Given the description of an element on the screen output the (x, y) to click on. 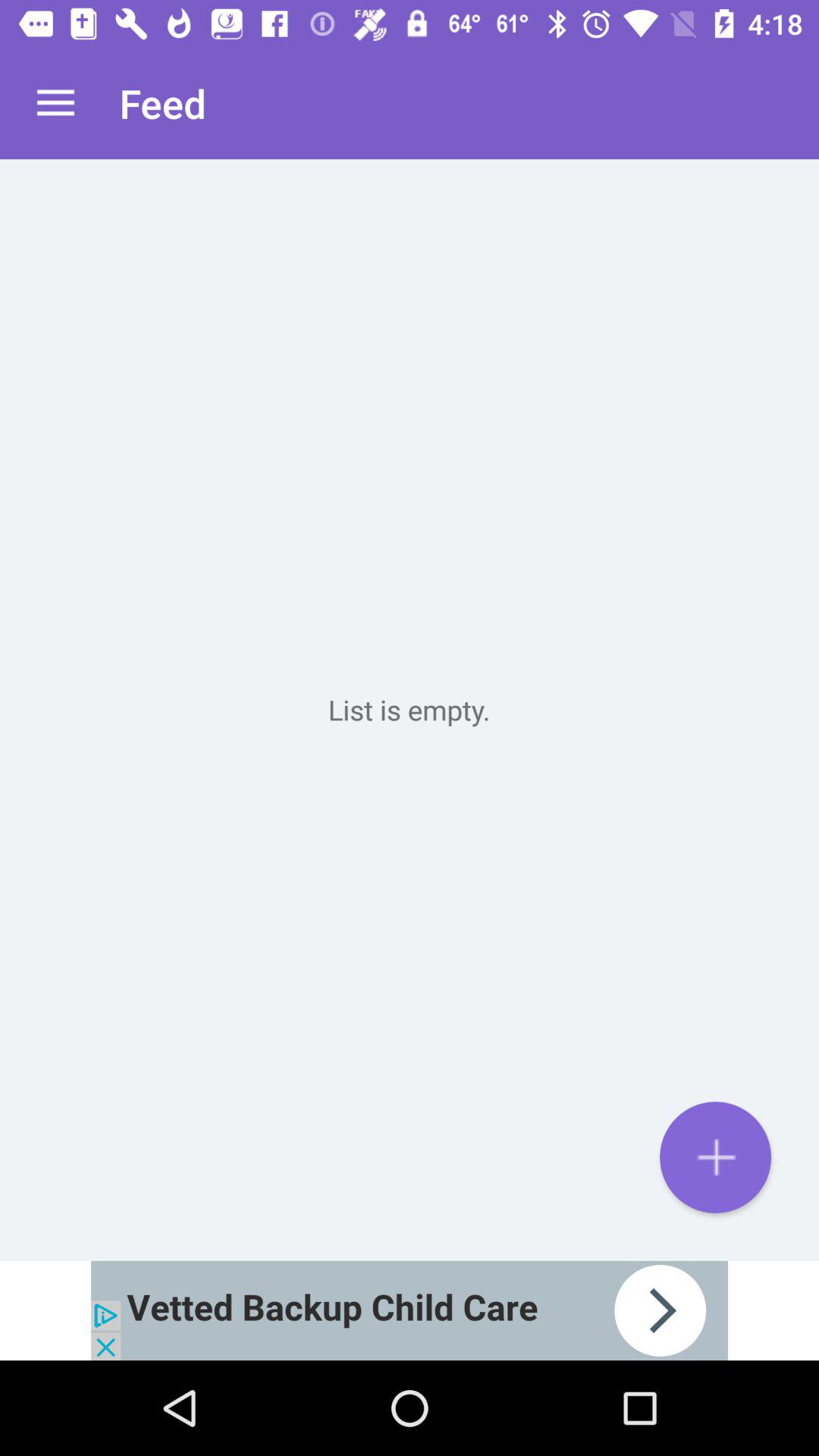
add list (715, 1157)
